Given the description of an element on the screen output the (x, y) to click on. 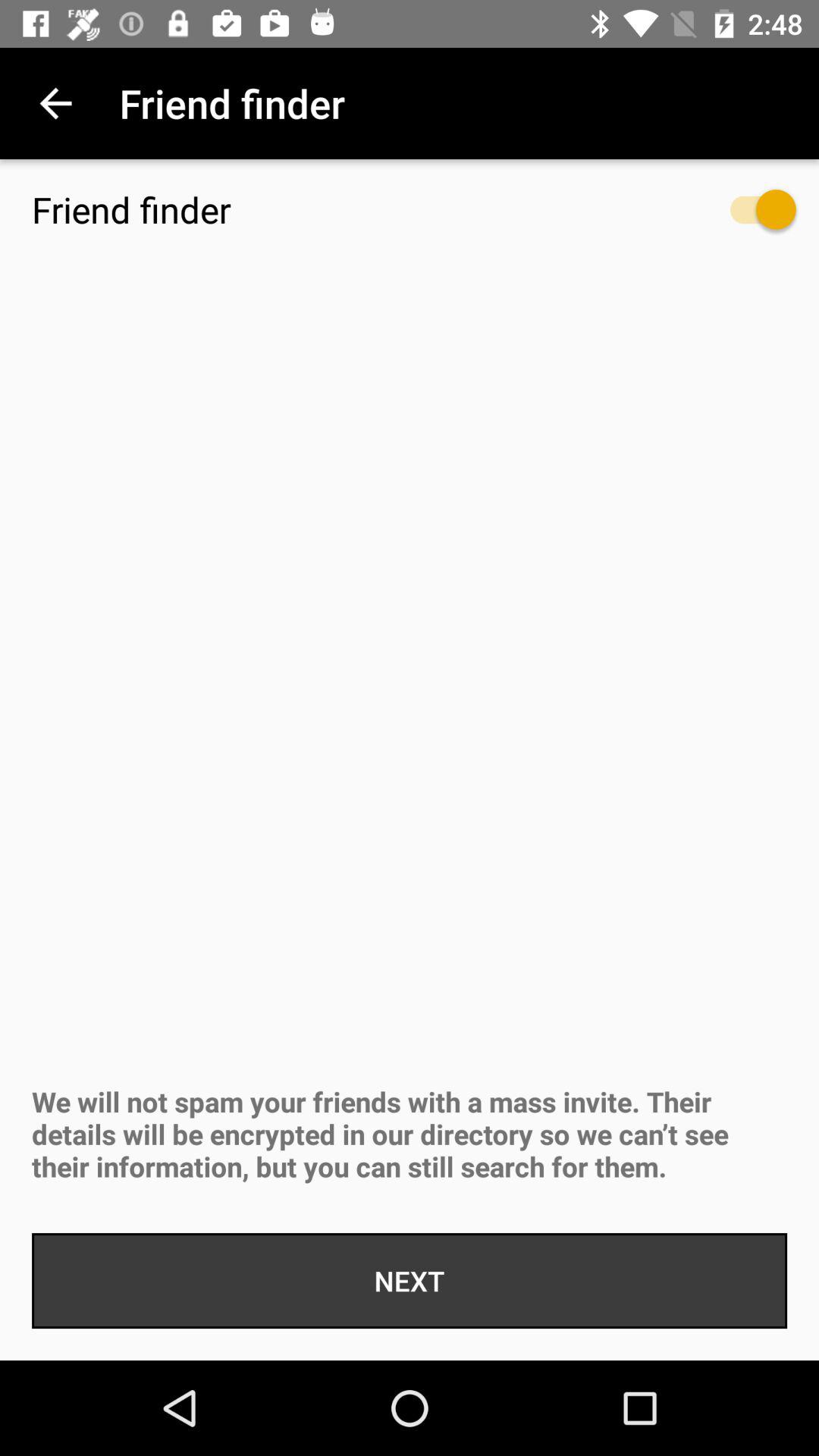
turn off the item next to the friend finder item (747, 217)
